Given the description of an element on the screen output the (x, y) to click on. 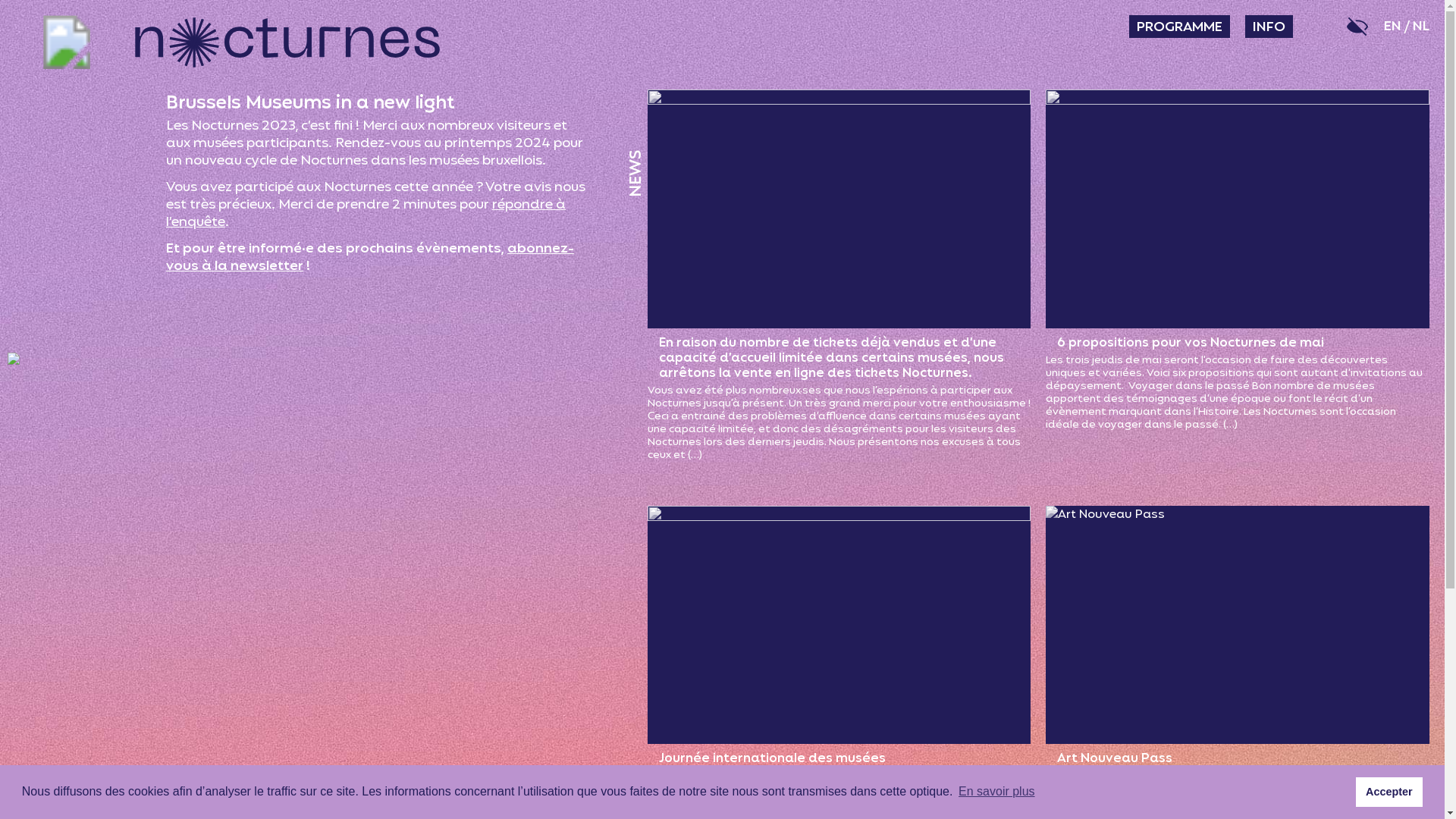
EN Element type: text (1392, 26)
NL Element type: text (1420, 26)
Accepter Element type: text (1389, 791)
6 propositions pour vos Nocturnes de mai Element type: text (1190, 342)
En savoir plus Element type: text (996, 791)
INFO Element type: text (1268, 26)
Art Nouveau Pass Element type: text (1114, 758)
PROGRAMME Element type: text (1179, 26)
